Given the description of an element on the screen output the (x, y) to click on. 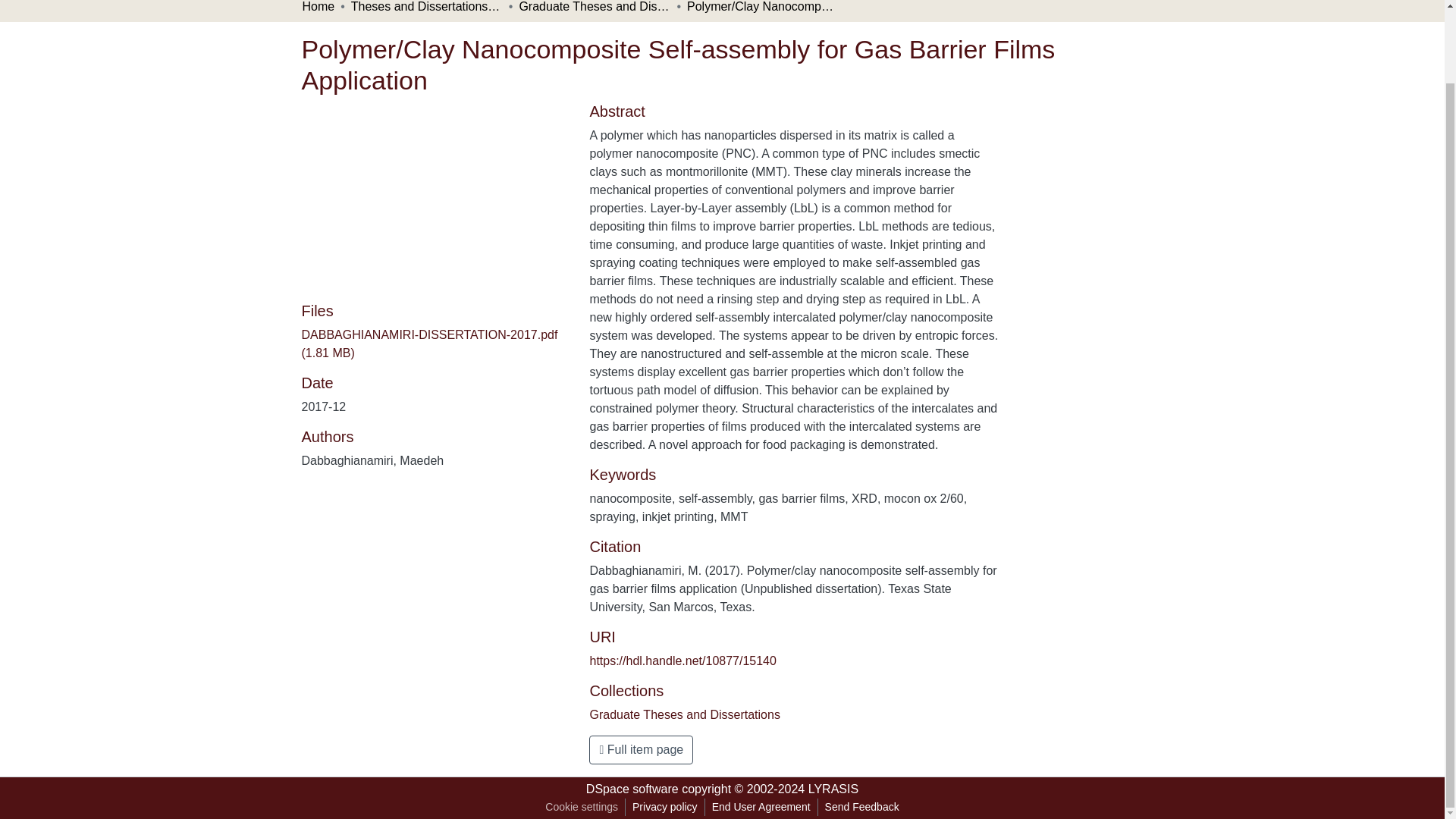
Cookie settings (581, 806)
Home (317, 7)
Theses and Dissertations, Capstones, and Directed Research (426, 7)
Send Feedback (861, 806)
Graduate Theses and Dissertations (683, 714)
LYRASIS (833, 788)
Full item page (641, 749)
Graduate Theses and Dissertations (593, 7)
DSpace software (632, 788)
Privacy policy (665, 806)
